Given the description of an element on the screen output the (x, y) to click on. 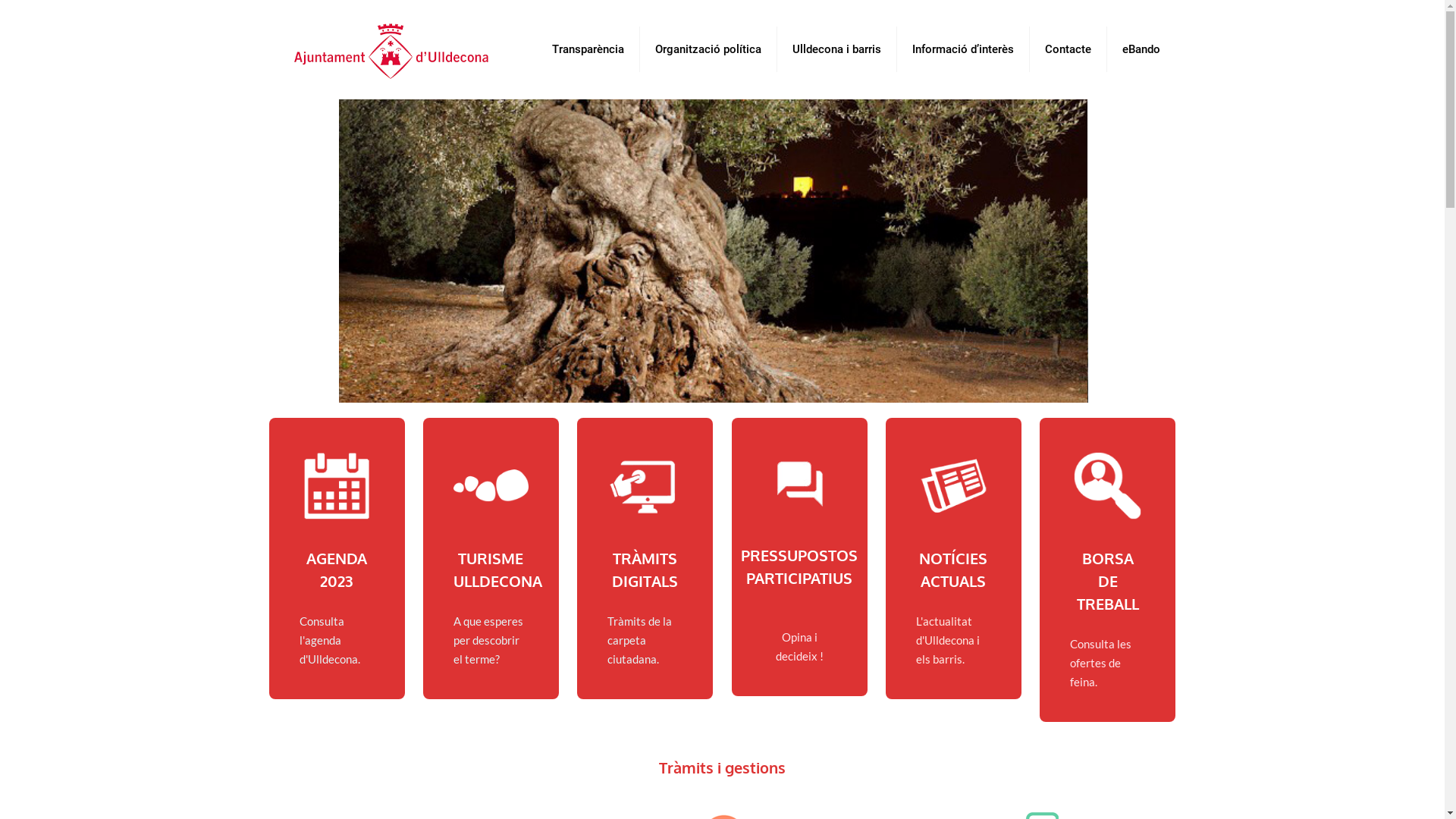
PRESSUPOSTOS PARTICIPATIUS

Opina i
decideix ! Element type: text (799, 554)
Ulldecona i barris Element type: text (837, 49)
TURISME ULLDECONA
A que esperes per descobrir el terme? Element type: text (490, 558)
eBando Element type: text (1141, 49)
BORSA DE TREBALL
Consulta les ofertes de feina. Element type: text (1107, 569)
Ajuntament d'Ulldecona Element type: hover (391, 49)
AGENDA 2023
Consulta l'agenda d'Ulldecona. Element type: text (336, 558)
Contacte Element type: text (1068, 49)
